Given the description of an element on the screen output the (x, y) to click on. 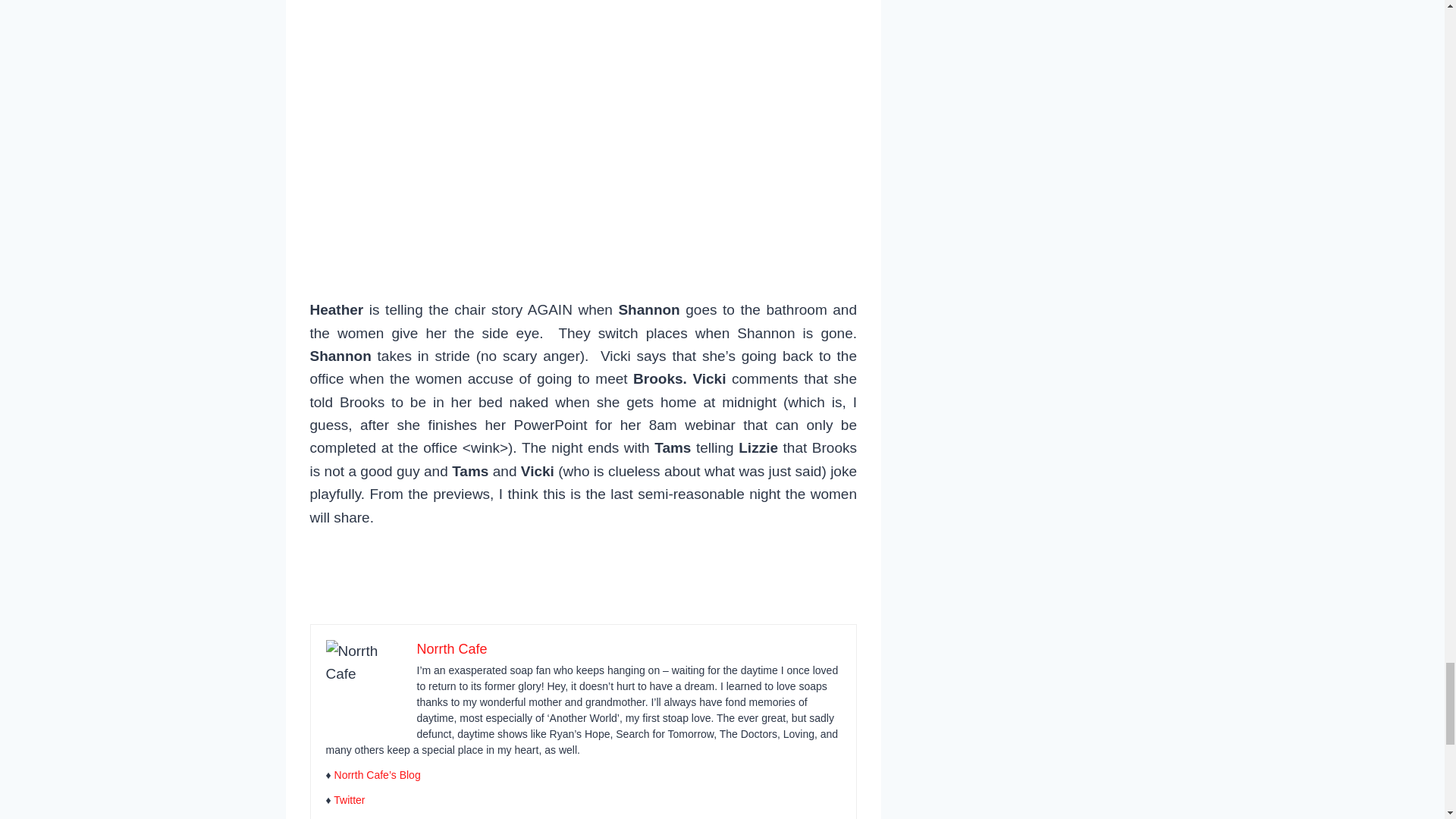
Norrth Cafe (451, 648)
Twitter (349, 799)
